Given the description of an element on the screen output the (x, y) to click on. 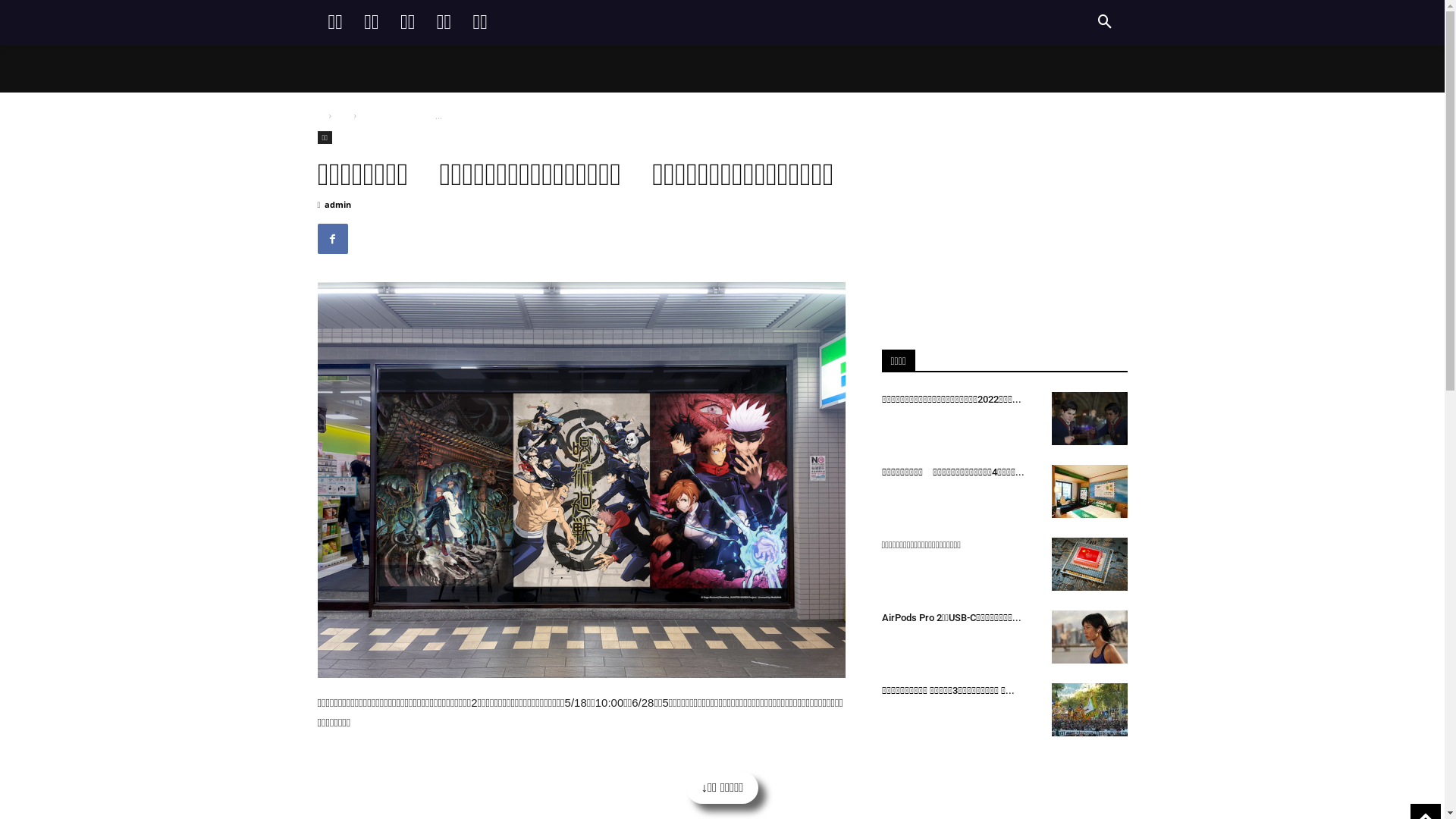
4932b3ad5cc870b7f0ffb0fac9c428aa Element type: hover (580, 479)
admin Element type: text (337, 204)
